Given the description of an element on the screen output the (x, y) to click on. 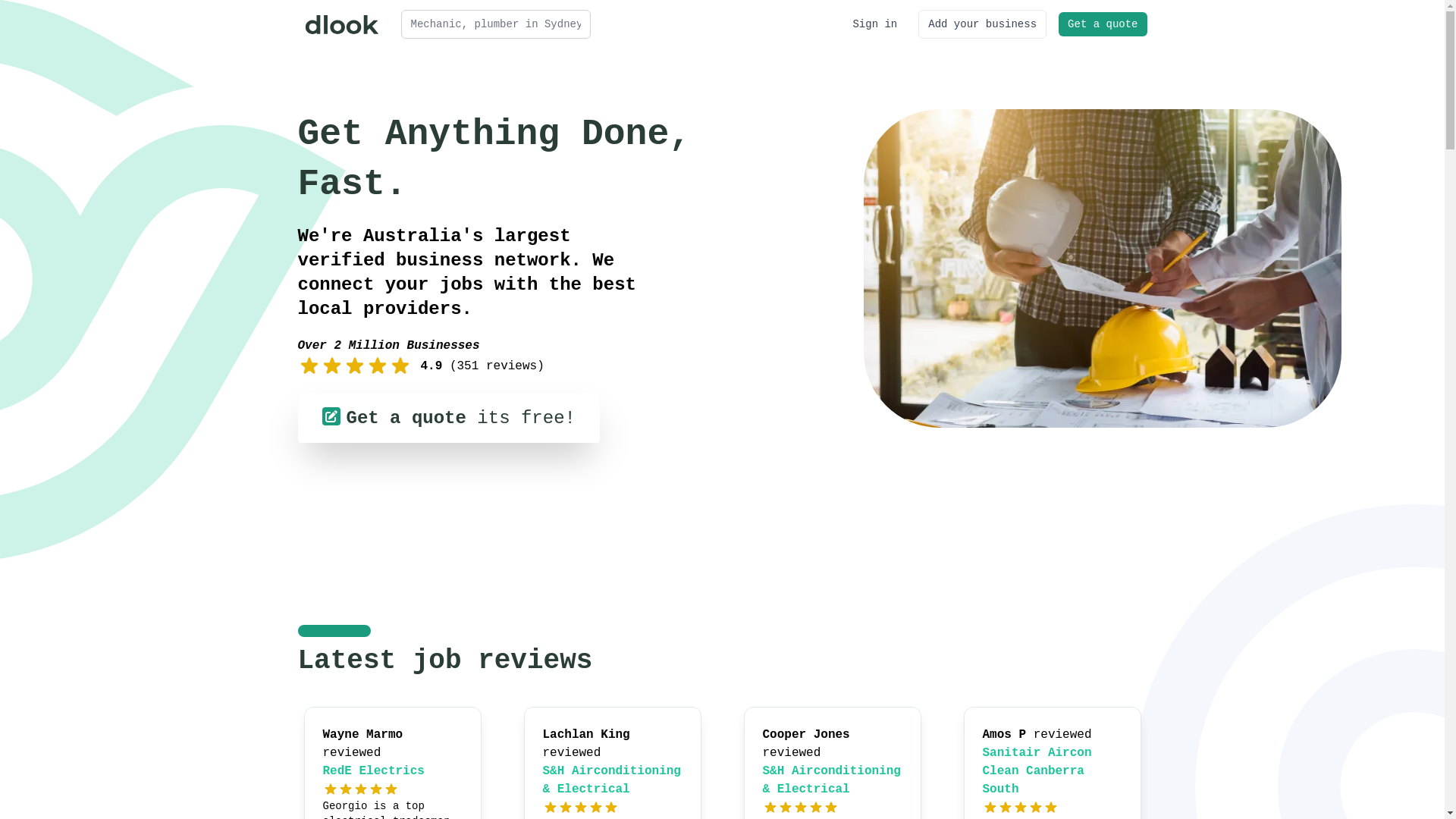
Add your business Element type: text (982, 23)
Sanitair Aircon Clean Canberra South Element type: text (1037, 771)
RedE Electrics Element type: text (373, 771)
Sign in Element type: text (874, 23)
Get a quote Element type: text (1102, 24)
S&H Airconditioning & Electrical Element type: text (611, 780)
Get a quote its free! Element type: text (448, 417)
S&H Airconditioning & Electrical Element type: text (831, 780)
